Given the description of an element on the screen output the (x, y) to click on. 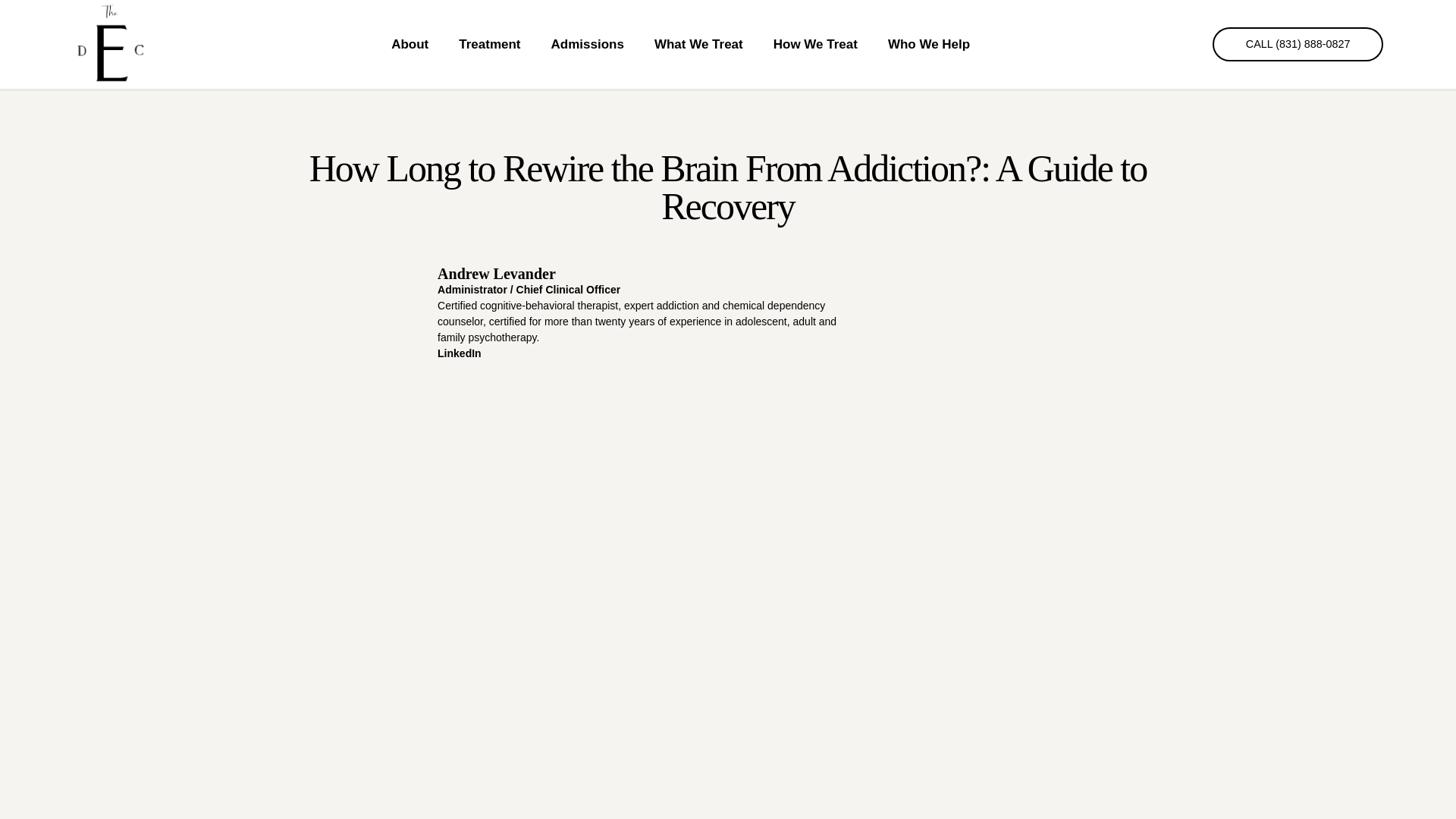
Treatment (489, 44)
About (409, 44)
Who We Help (928, 44)
How We Treat (815, 44)
What We Treat (698, 44)
Admissions (587, 44)
